Given the description of an element on the screen output the (x, y) to click on. 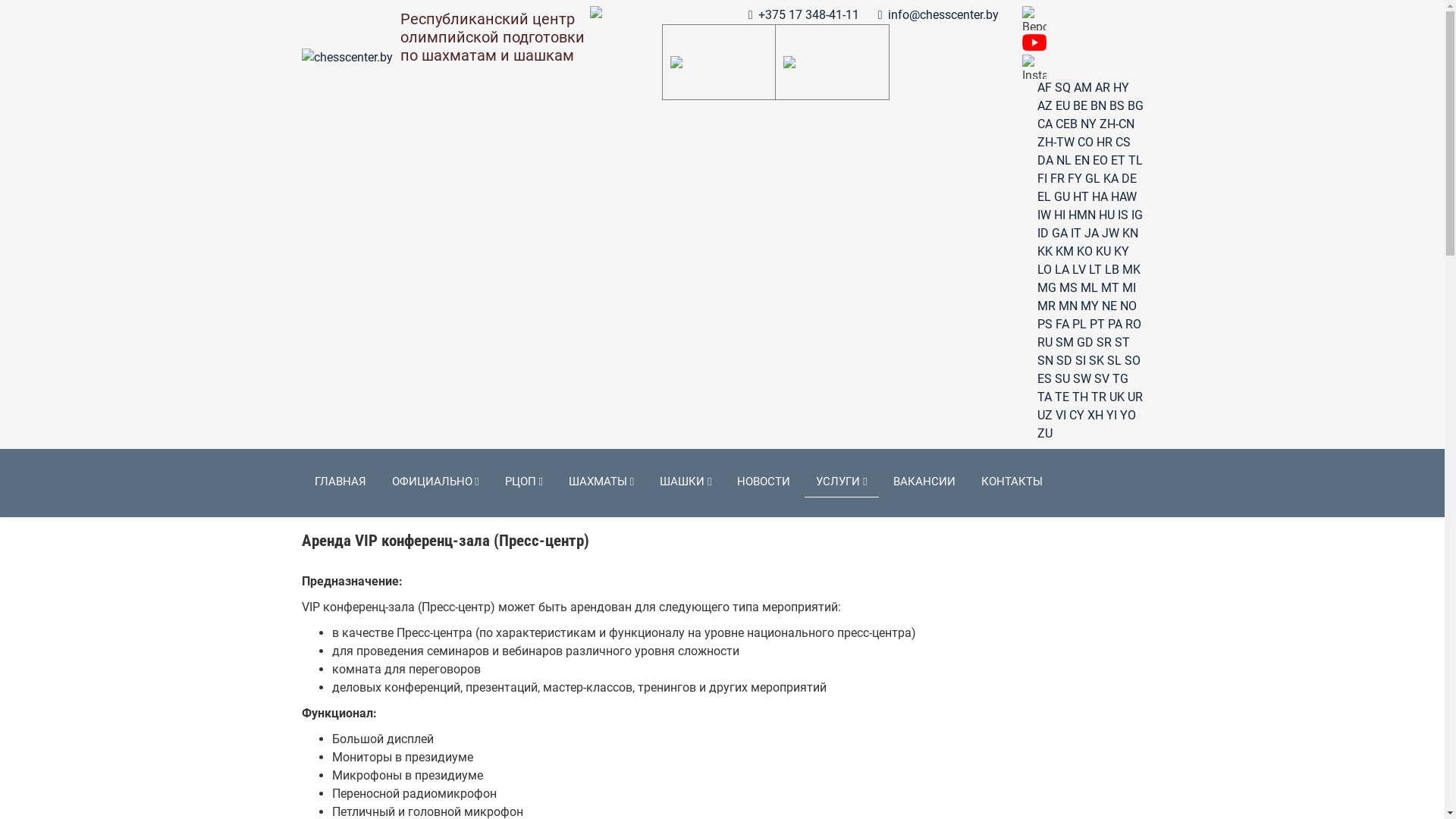
AR Element type: text (1102, 87)
NE Element type: text (1108, 305)
HA Element type: text (1099, 196)
KO Element type: text (1084, 251)
GL Element type: text (1091, 178)
ST Element type: text (1121, 342)
IW Element type: text (1044, 214)
DA Element type: text (1045, 160)
MK Element type: text (1131, 269)
MI Element type: text (1128, 287)
FY Element type: text (1074, 178)
TG Element type: text (1119, 378)
+375 17 348-41-11 Element type: text (808, 14)
GD Element type: text (1084, 342)
EU Element type: text (1062, 105)
LT Element type: text (1094, 269)
YI Element type: text (1110, 414)
KA Element type: text (1109, 178)
MY Element type: text (1088, 305)
TL Element type: text (1135, 160)
ZH-TW Element type: text (1055, 141)
RU Element type: text (1044, 342)
MR Element type: text (1046, 305)
SR Element type: text (1103, 342)
BS Element type: text (1115, 105)
CY Element type: text (1076, 414)
VI Element type: text (1060, 414)
BE Element type: text (1079, 105)
SW Element type: text (1081, 378)
JA Element type: text (1091, 232)
TR Element type: text (1097, 396)
EN Element type: text (1080, 160)
EO Element type: text (1099, 160)
KN Element type: text (1130, 232)
KY Element type: text (1120, 251)
PT Element type: text (1096, 323)
HMN Element type: text (1081, 214)
HI Element type: text (1059, 214)
IT Element type: text (1075, 232)
UK Element type: text (1115, 396)
JW Element type: text (1109, 232)
AZ Element type: text (1044, 105)
CO Element type: text (1084, 141)
KM Element type: text (1064, 251)
SD Element type: text (1063, 360)
CS Element type: text (1121, 141)
PA Element type: text (1114, 323)
SI Element type: text (1080, 360)
HU Element type: text (1105, 214)
AM Element type: text (1082, 87)
EL Element type: text (1044, 196)
AF Element type: text (1044, 87)
TE Element type: text (1061, 396)
KK Element type: text (1044, 251)
XH Element type: text (1095, 414)
FA Element type: text (1062, 323)
ET Element type: text (1117, 160)
GA Element type: text (1058, 232)
SM Element type: text (1064, 342)
MS Element type: text (1067, 287)
DE Element type: text (1127, 178)
BG Element type: text (1134, 105)
IG Element type: text (1136, 214)
UR Element type: text (1134, 396)
SQ Element type: text (1062, 87)
CEB Element type: text (1066, 123)
SO Element type: text (1131, 360)
ML Element type: text (1088, 287)
SL Element type: text (1114, 360)
FI Element type: text (1042, 178)
IS Element type: text (1122, 214)
LA Element type: text (1061, 269)
SU Element type: text (1061, 378)
SV Element type: text (1100, 378)
info@chesscenter.by Element type: text (942, 14)
ZU Element type: text (1044, 433)
MN Element type: text (1067, 305)
PS Element type: text (1044, 323)
NY Element type: text (1087, 123)
ID Element type: text (1042, 232)
LV Element type: text (1078, 269)
KU Element type: text (1102, 251)
UZ Element type: text (1044, 414)
CA Element type: text (1044, 123)
FR Element type: text (1056, 178)
MG Element type: text (1046, 287)
MT Element type: text (1110, 287)
ES Element type: text (1044, 378)
ZH-CN Element type: text (1116, 123)
NO Element type: text (1127, 305)
TA Element type: text (1044, 396)
LB Element type: text (1111, 269)
LO Element type: text (1044, 269)
TH Element type: text (1080, 396)
SK Element type: text (1096, 360)
HT Element type: text (1080, 196)
BN Element type: text (1098, 105)
NL Element type: text (1062, 160)
HY Element type: text (1121, 87)
YO Element type: text (1127, 414)
GU Element type: text (1062, 196)
PL Element type: text (1079, 323)
SN Element type: text (1045, 360)
HAW Element type: text (1122, 196)
RO Element type: text (1133, 323)
HR Element type: text (1104, 141)
